Given the description of an element on the screen output the (x, y) to click on. 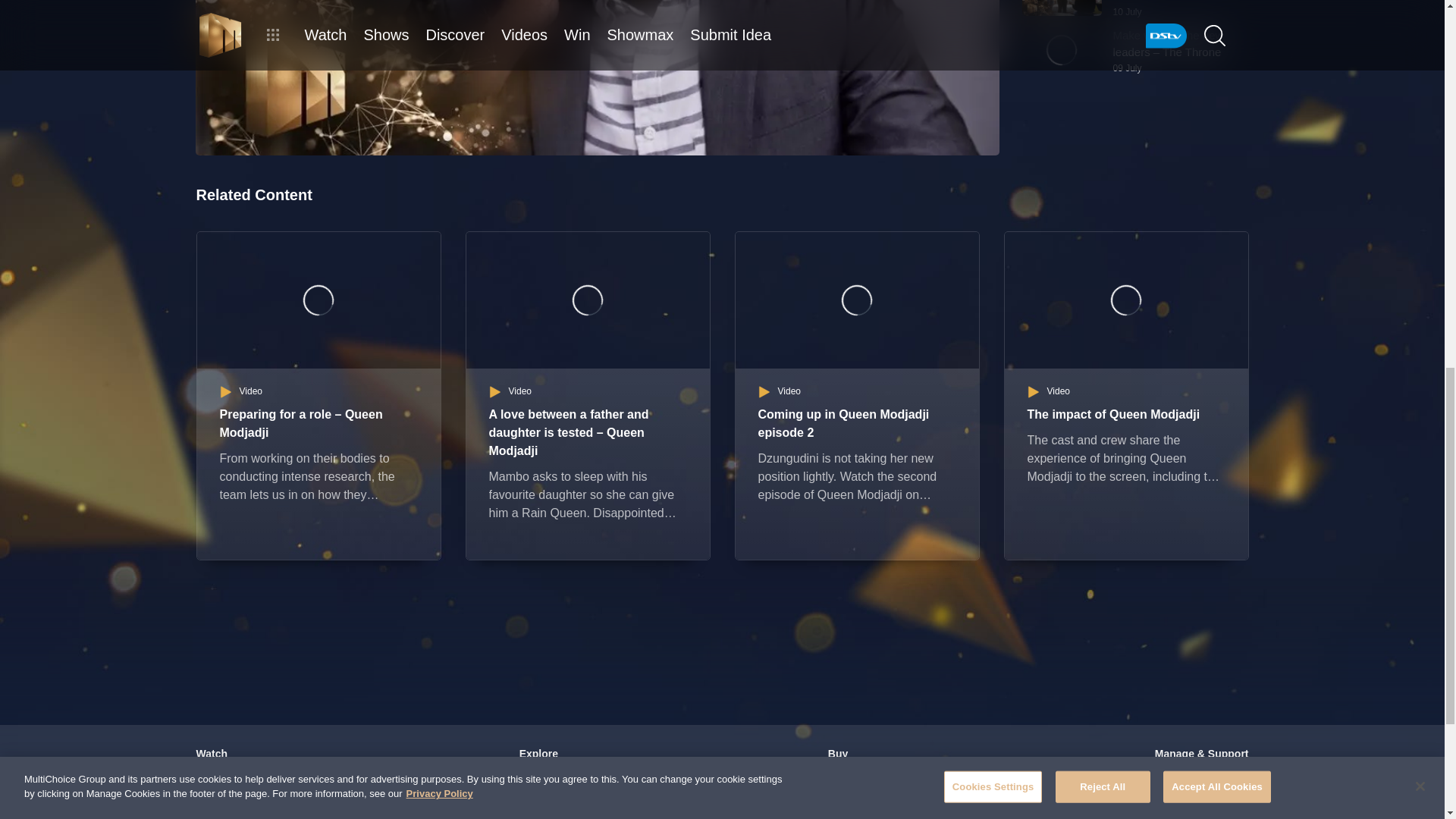
Browse the TV Guide (243, 793)
View our FAQs (1201, 793)
Sign in to MyDStv (1201, 775)
Find an Installer (877, 811)
Binge on Showmax (243, 811)
Loving Local (559, 793)
Best of International (559, 811)
Find out How to Pay (1201, 811)
Highlights (559, 775)
Stream Live TV (243, 775)
Explore our Packages (877, 775)
